Given the description of an element on the screen output the (x, y) to click on. 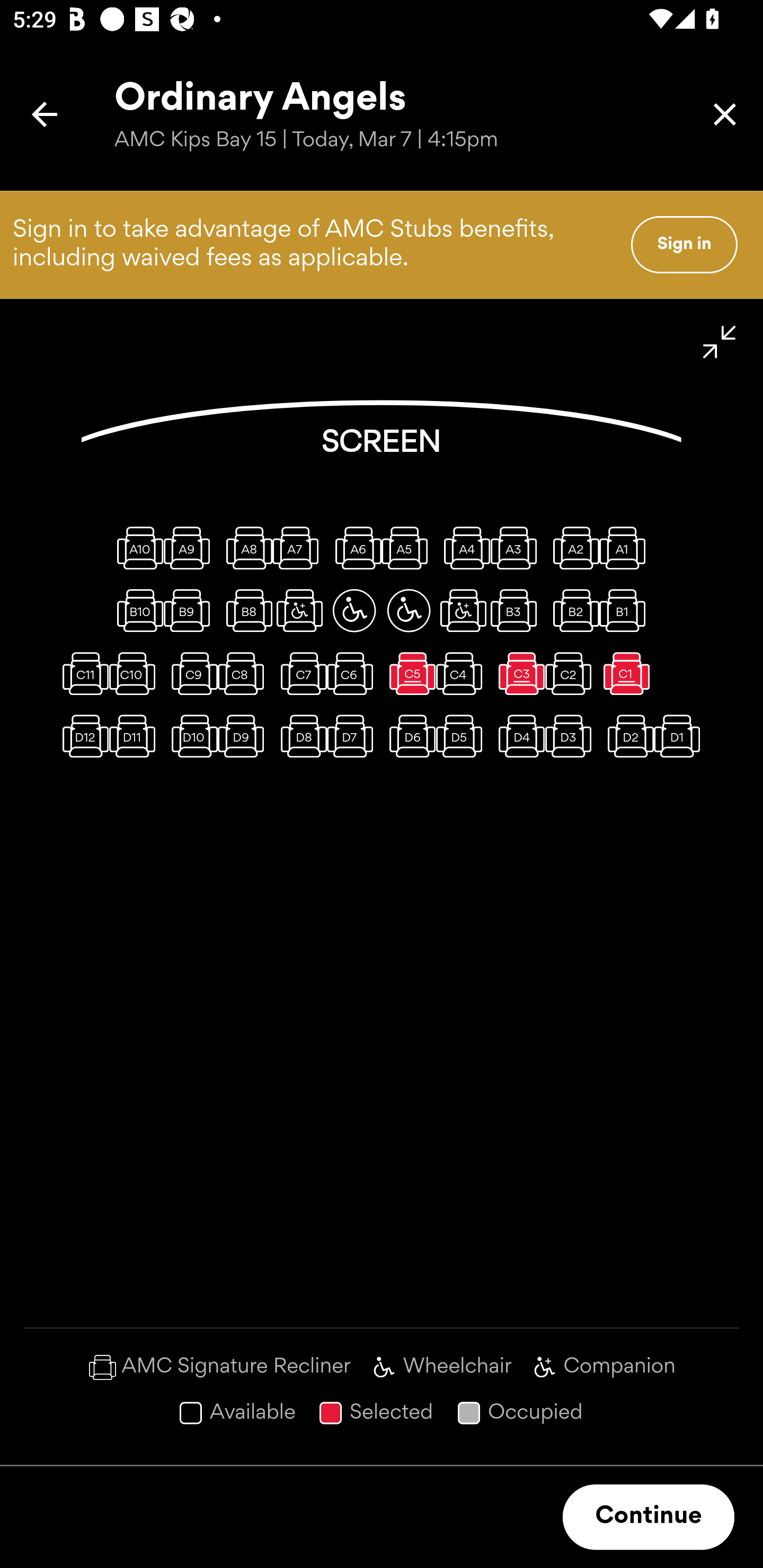
Back (44, 114)
Close (724, 114)
Sign in (684, 244)
Minimize (719, 342)
A10, Regular seat, available (136, 547)
A9, Regular seat, available (190, 547)
A8, Regular seat, available (244, 547)
A7, Regular seat, available (299, 547)
A6, Regular seat, available (353, 547)
A5, Regular seat, available (408, 547)
A4, Regular seat, available (463, 547)
A3, Regular seat, available (517, 547)
A2, Regular seat, available (571, 547)
A1, Regular seat, available (625, 547)
B10, Regular seat, available (136, 610)
B9, Regular seat, available (190, 610)
B8, Regular seat, available (244, 610)
B7, Wheelchair companion seat, available (299, 610)
B6, Wheelchair space, available (353, 610)
B5, Wheelchair space, available (408, 610)
B4, Wheelchair companion seat, available (463, 610)
B3, Regular seat, available (517, 610)
B2, Regular seat, available (571, 610)
B1, Regular seat, available (625, 610)
C11, Regular seat, available (81, 672)
C10, Regular seat, available (136, 672)
C9, Regular seat, available (190, 672)
C8, Regular seat, available (244, 672)
C7, Regular seat, available (299, 672)
C6, Regular seat, available (353, 672)
C5, Regular seat, selected (408, 672)
C4, Regular seat, available (463, 672)
C3, Regular seat, selected (517, 672)
C2, Regular seat, available (571, 672)
C1, Regular seat, selected (625, 672)
D12, Regular seat, available (81, 736)
D11, Regular seat, available (136, 736)
D10, Regular seat, available (190, 736)
D9, Regular seat, available (244, 736)
D8, Regular seat, available (299, 736)
D7, Regular seat, available (353, 736)
D6, Regular seat, available (408, 736)
D5, Regular seat, available (463, 736)
D4, Regular seat, available (517, 736)
D3, Regular seat, available (571, 736)
D2, Regular seat, available (625, 736)
D1, Regular seat, available (680, 736)
Continue (648, 1516)
